Given the description of an element on the screen output the (x, y) to click on. 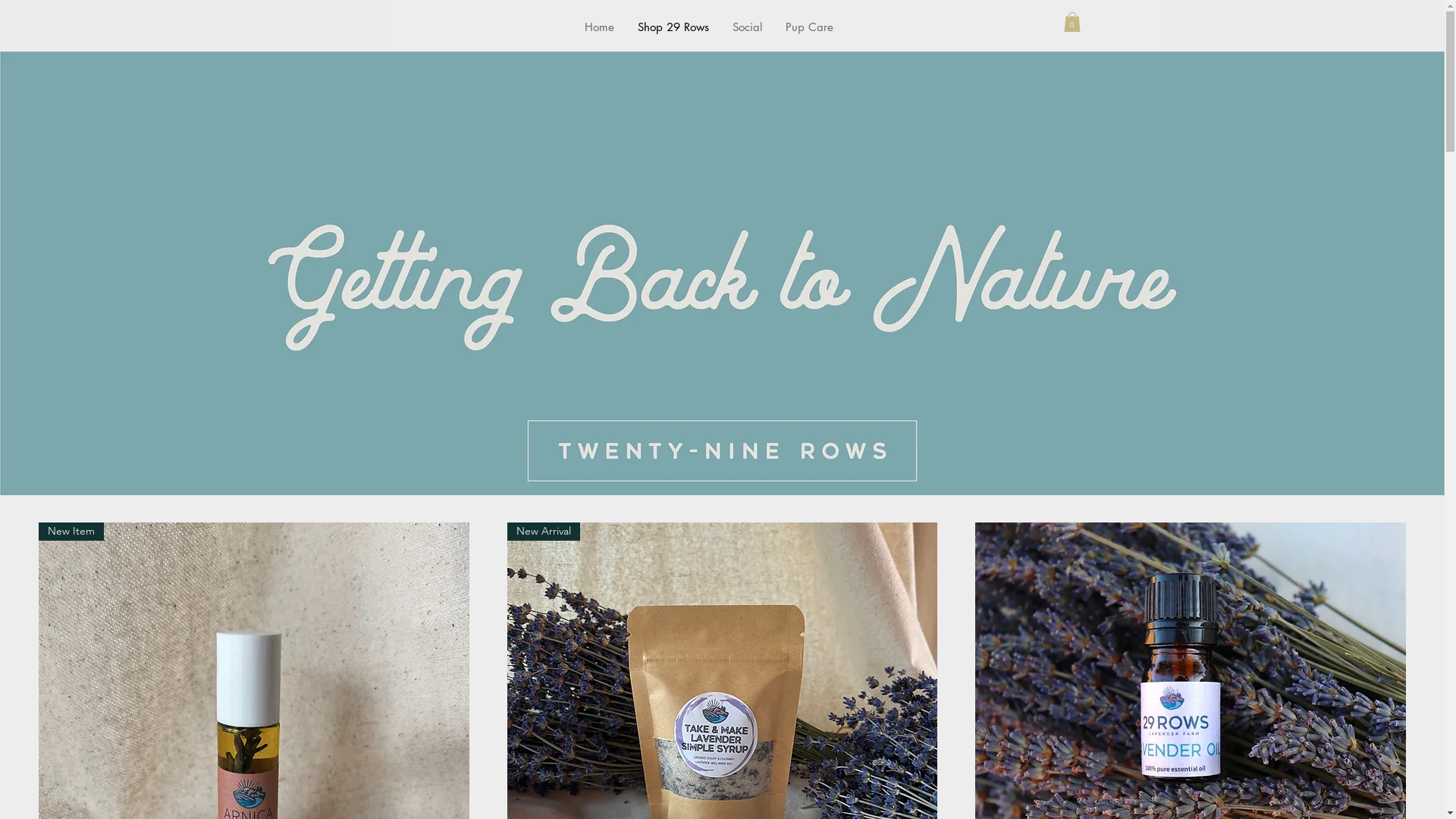
0 Element type: text (1071, 21)
Social Element type: text (746, 27)
Shop 29 Rows Element type: text (671, 27)
Pup Care Element type: text (808, 27)
Home Element type: text (597, 27)
